Given the description of an element on the screen output the (x, y) to click on. 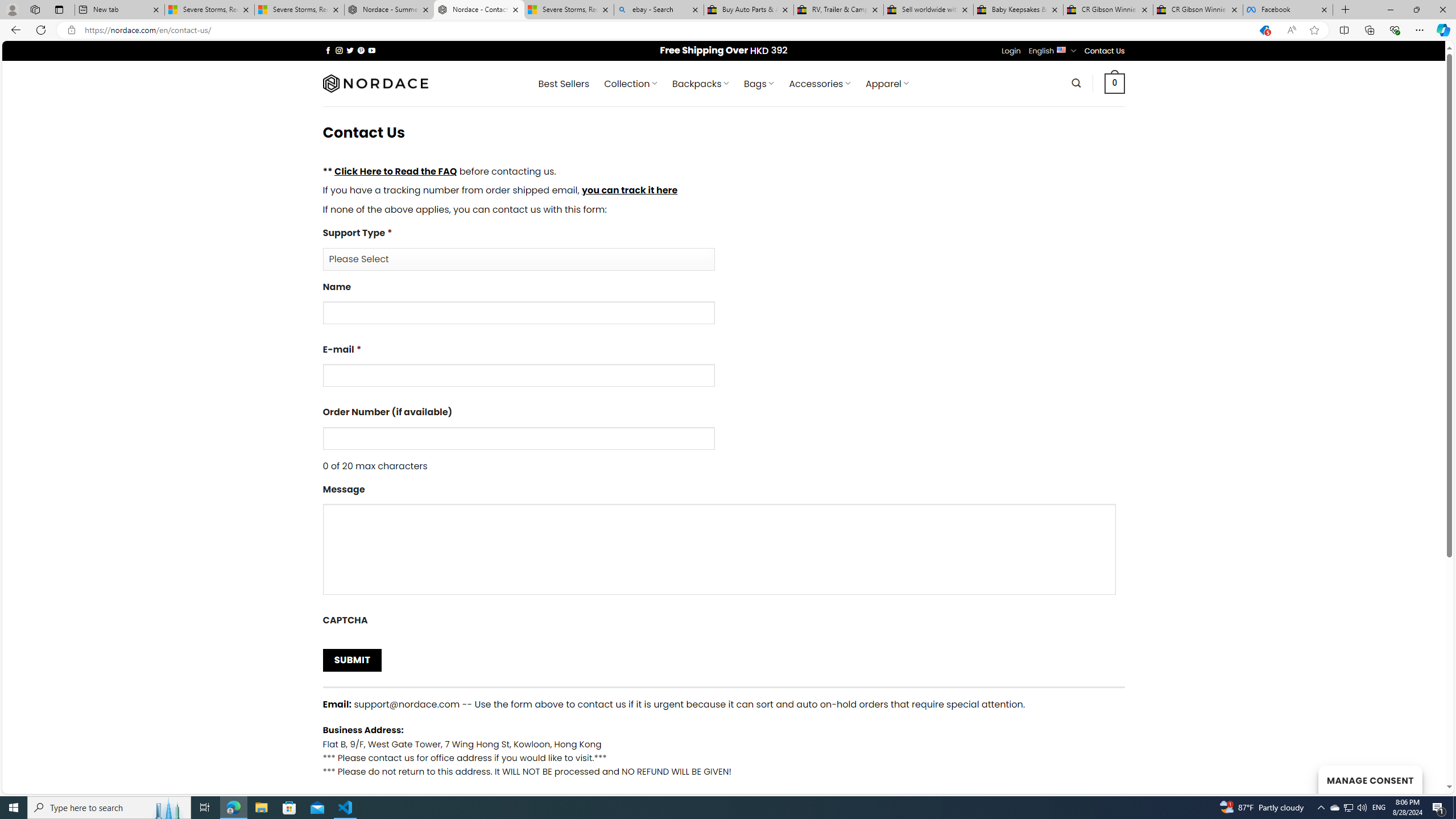
Name (723, 306)
CAPTCHA (723, 621)
Support Type* (517, 259)
Click Here to Read the FAQ (395, 170)
 Best Sellers (563, 83)
Order Number (if available) (517, 437)
